Given the description of an element on the screen output the (x, y) to click on. 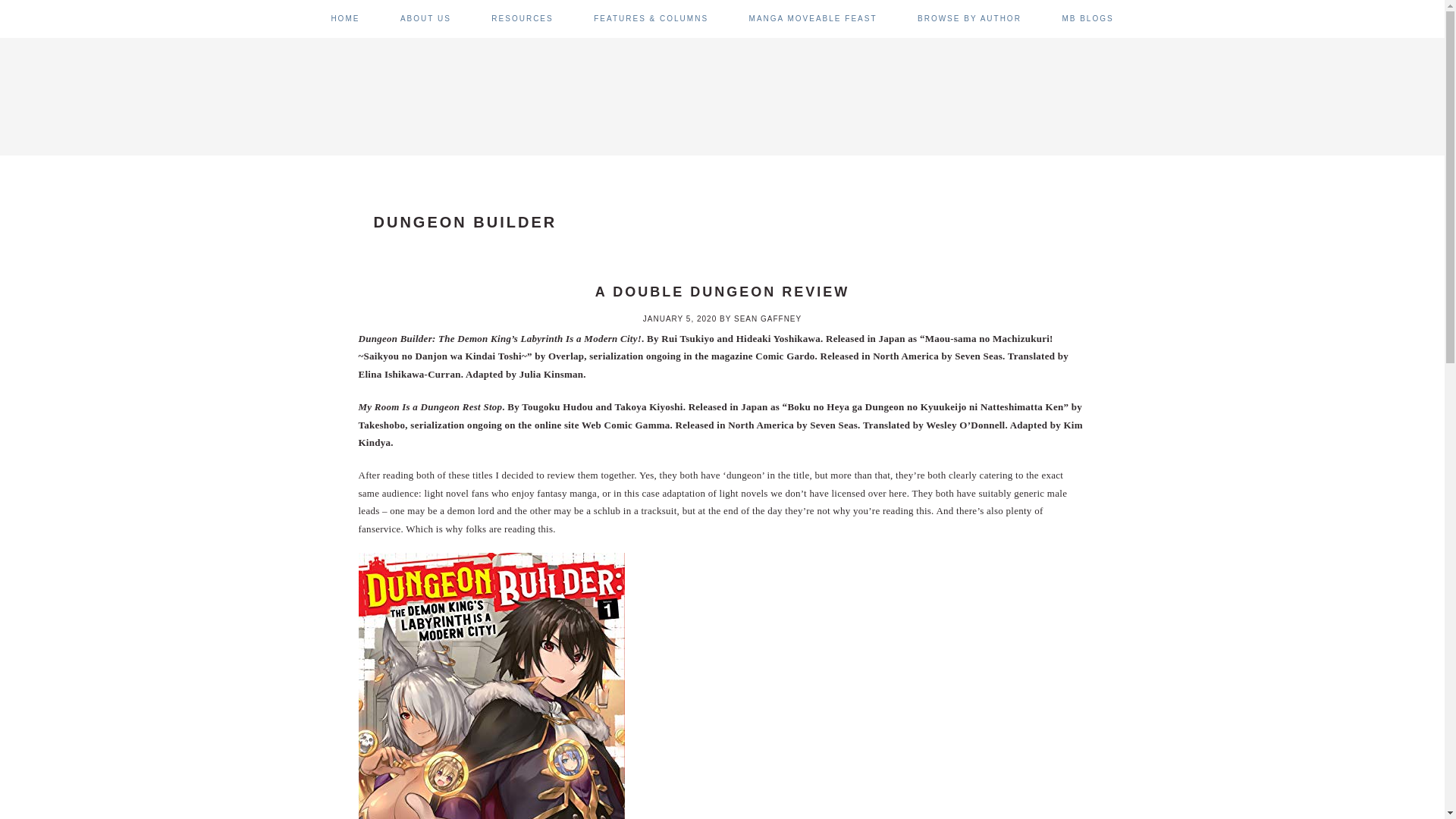
Posts by Sean Gaffney (767, 318)
MANGA MOVEABLE FEAST (813, 18)
RESOURCES (521, 18)
ABOUT US (425, 18)
HOME (344, 18)
